Given the description of an element on the screen output the (x, y) to click on. 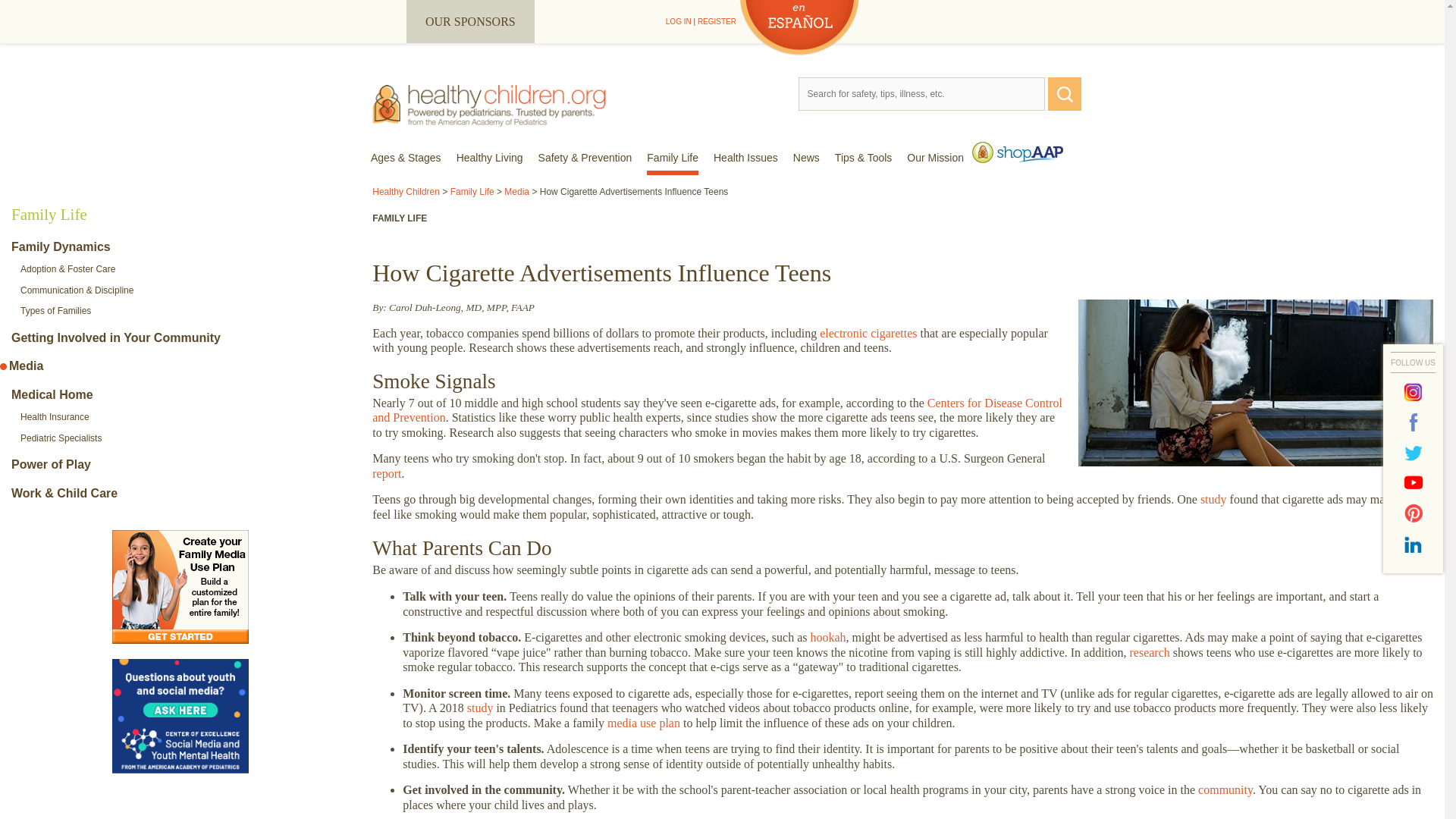
REGISTER (716, 21)
Pinterest (1413, 513)
Instagram (1413, 391)
Twitter (1413, 452)
LOG IN (678, 21)
YouTube (1413, 482)
OUR SPONSORS (470, 21)
Linked In (1413, 543)
Facebook (1413, 422)
